Given the description of an element on the screen output the (x, y) to click on. 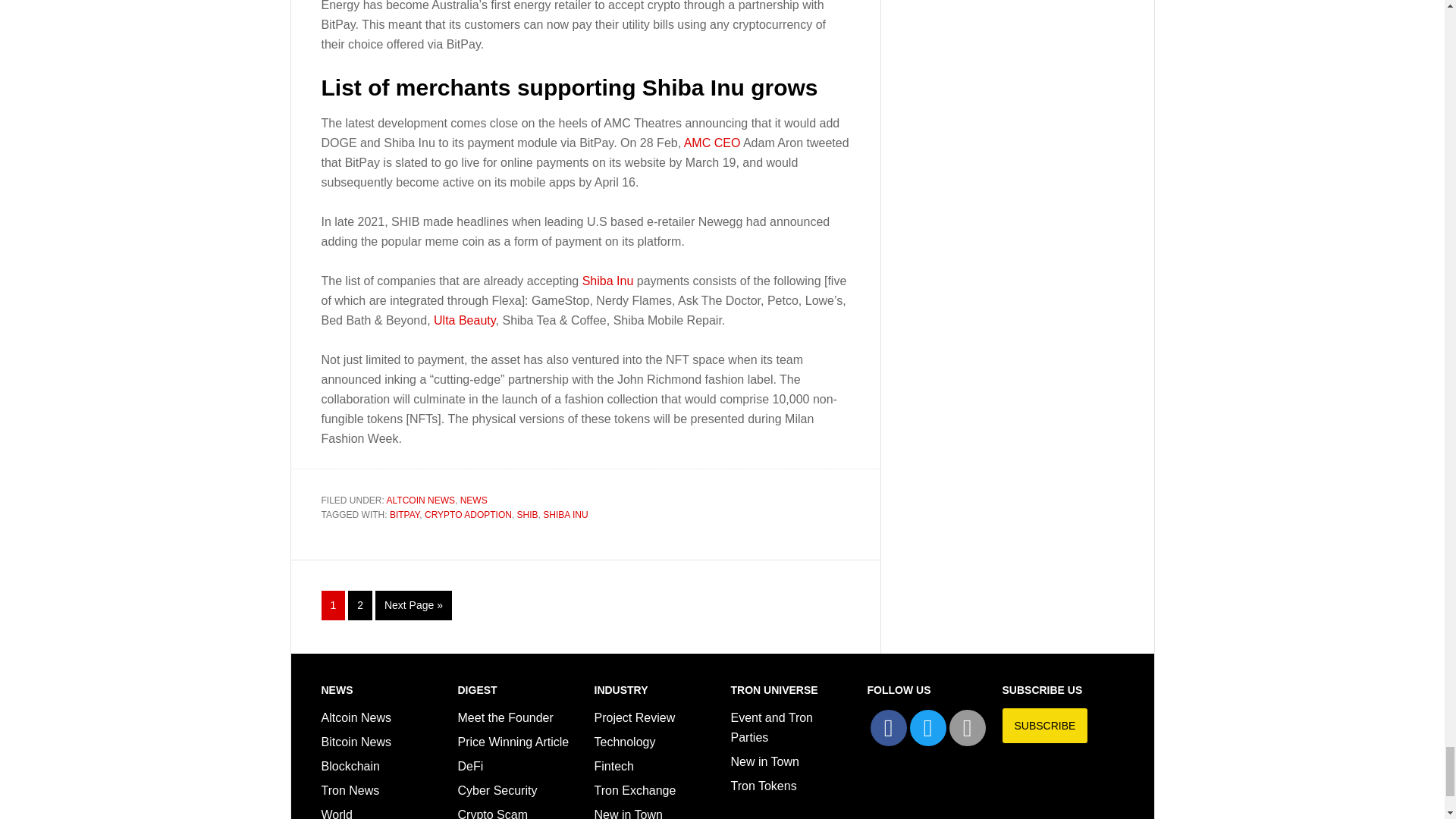
Telegram (967, 728)
Twitter (928, 728)
Facebook (888, 728)
